Given the description of an element on the screen output the (x, y) to click on. 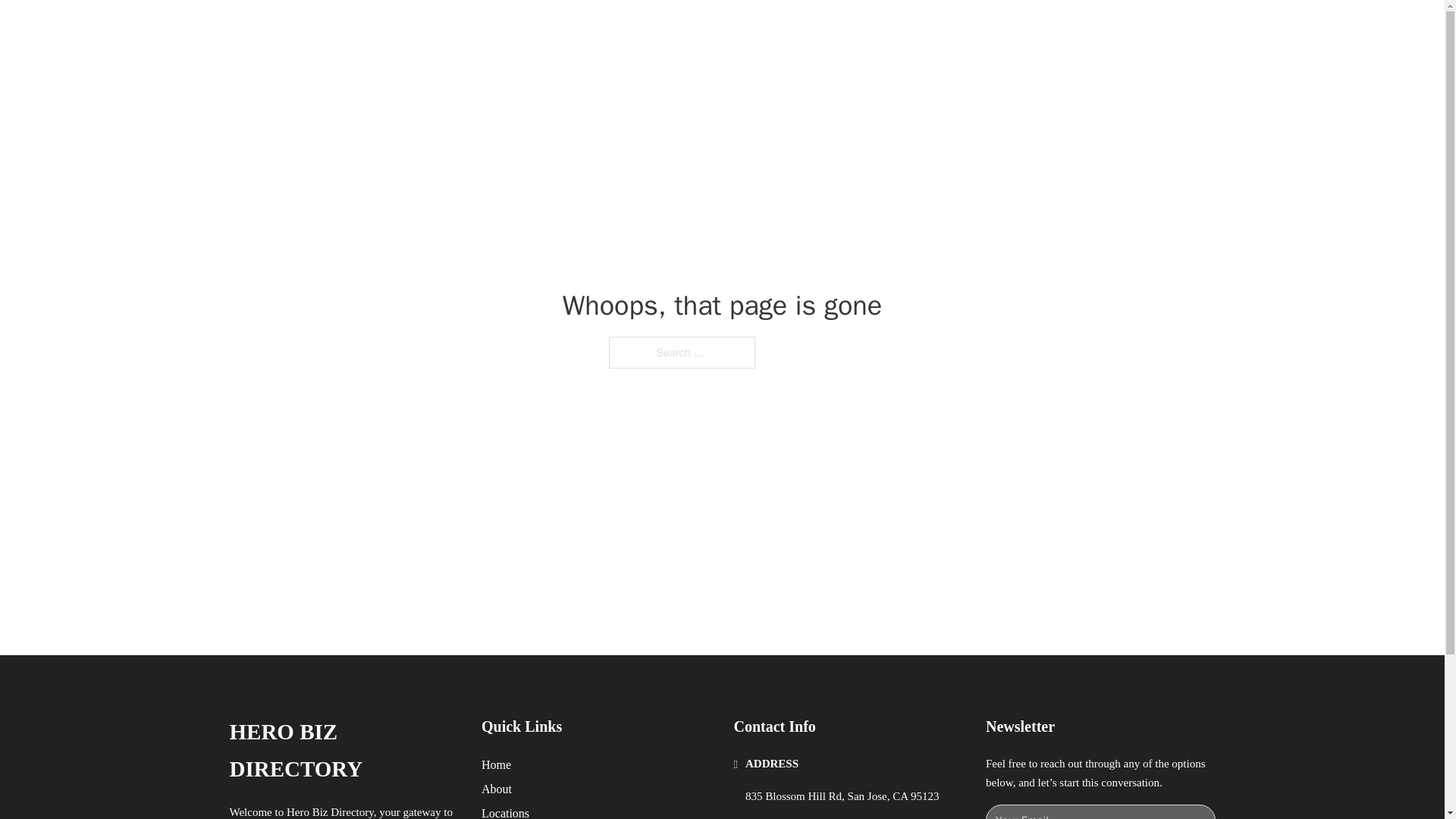
HOME (919, 29)
HERO BIZ DIRECTORY (417, 28)
Home (496, 764)
Locations (505, 811)
About (496, 788)
HERO BIZ DIRECTORY (343, 750)
LOCATIONS (990, 29)
